Given the description of an element on the screen output the (x, y) to click on. 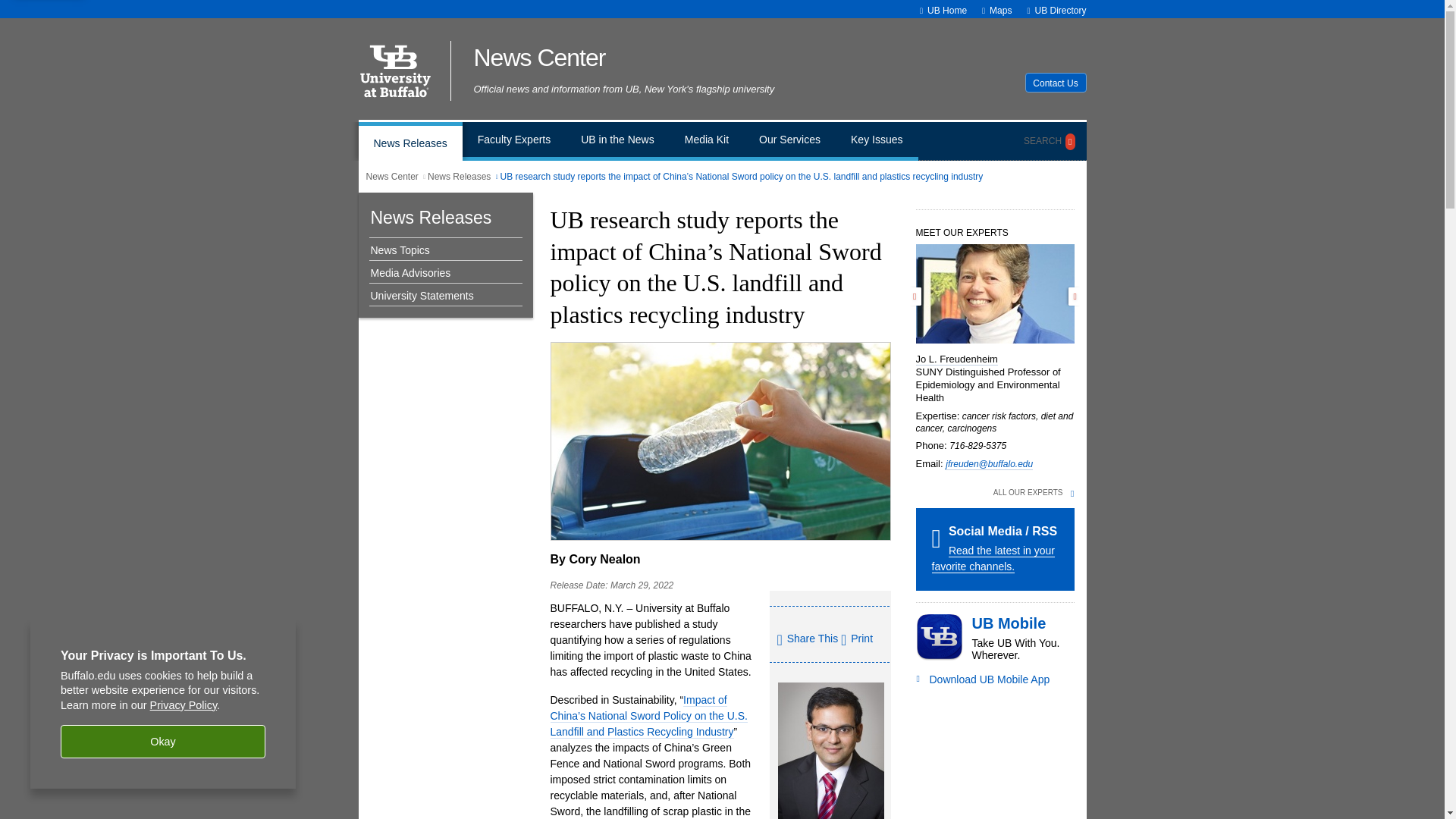
University Statements (441, 295)
Print (856, 638)
Faculty Experts (513, 141)
Share This (807, 639)
News Releases (459, 176)
News Releases (409, 141)
Media Kit (706, 141)
Contact Us (1055, 82)
UB Home (946, 9)
UB Directory (1059, 9)
Our Services (789, 141)
UB in the News (617, 141)
By Cory Nealon (595, 558)
News Center (636, 57)
Media Advisories (441, 272)
